Given the description of an element on the screen output the (x, y) to click on. 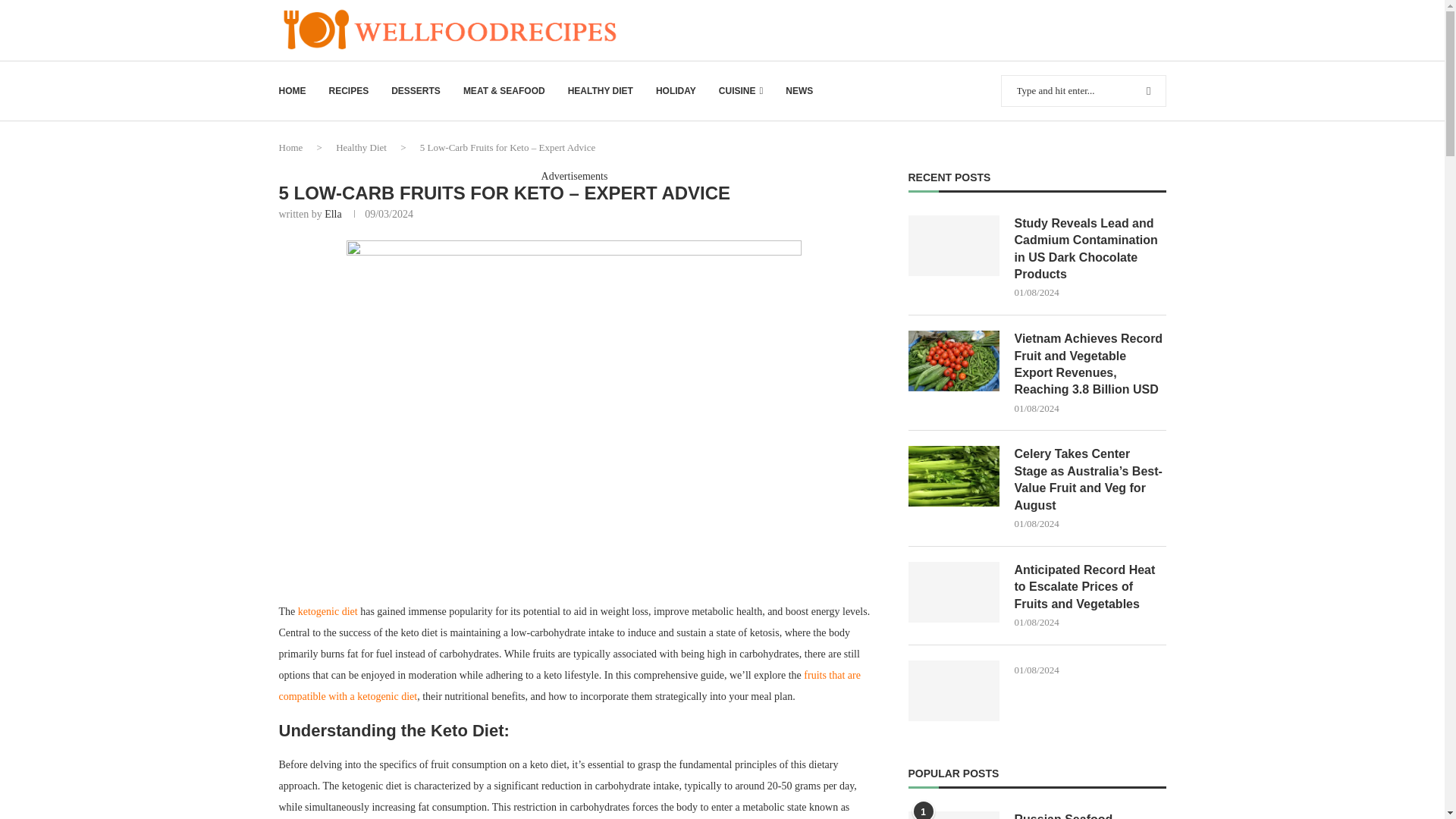
HOLIDAY (675, 90)
CUISINE (740, 90)
DESSERTS (416, 90)
RECIPES (349, 90)
HEALTHY DIET (600, 90)
ketogenic diet (328, 611)
